Given the description of an element on the screen output the (x, y) to click on. 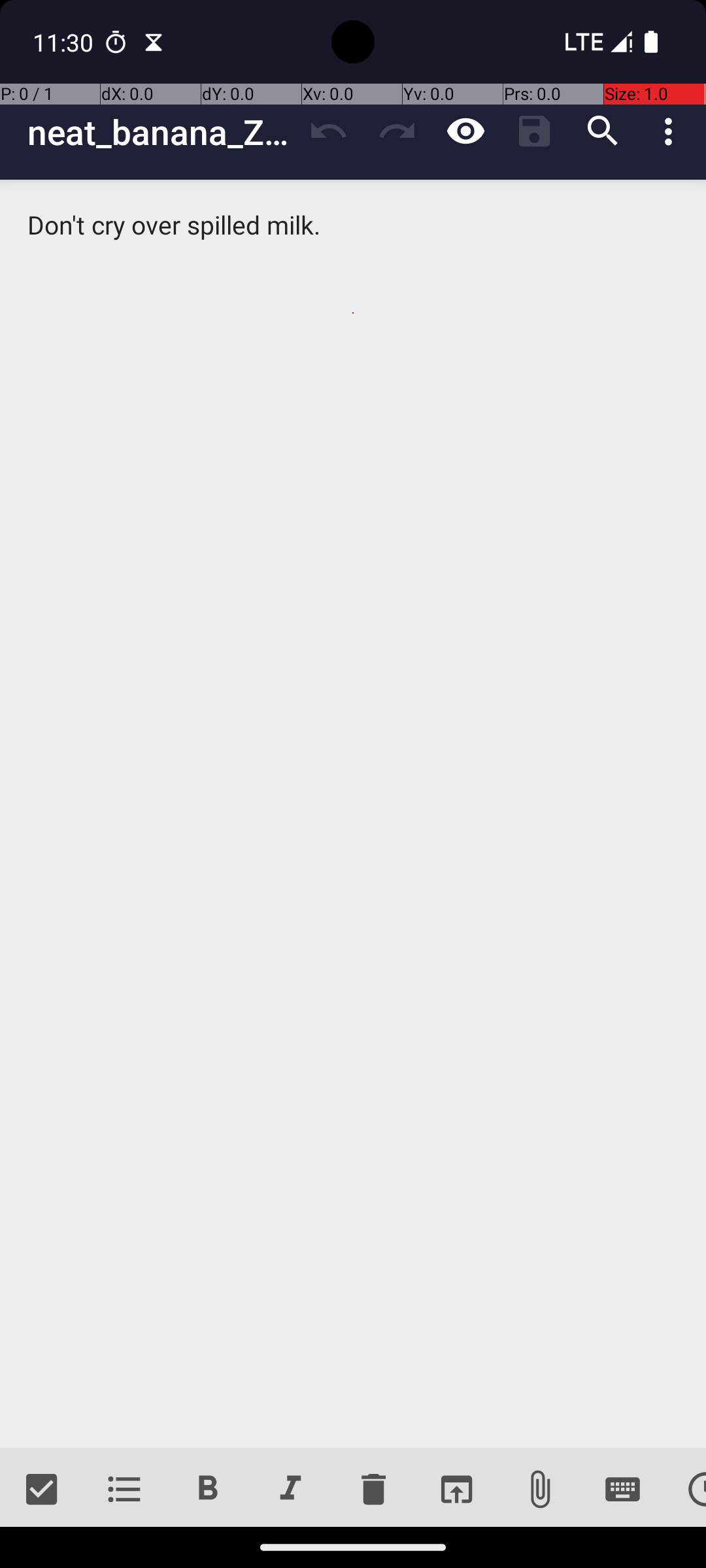
neat_banana_Zjqa Element type: android.widget.TextView (160, 131)
Don't cry over spilled milk.
 Element type: android.widget.EditText (353, 813)
11:30 Element type: android.widget.TextView (64, 41)
